Given the description of an element on the screen output the (x, y) to click on. 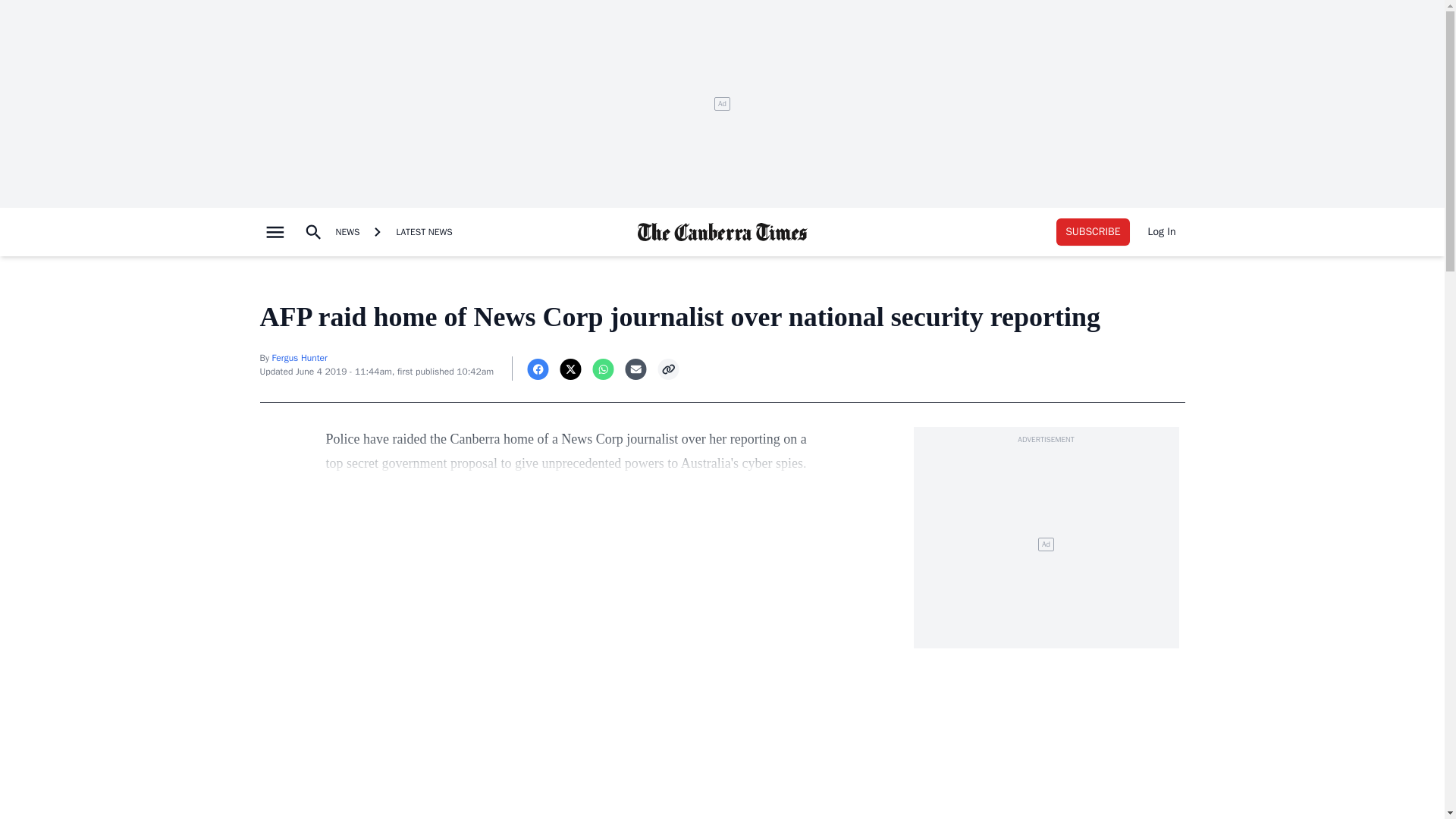
Log In (1161, 231)
LATEST NEWS (424, 232)
SUBSCRIBE (1093, 231)
NEWS (347, 232)
